Given the description of an element on the screen output the (x, y) to click on. 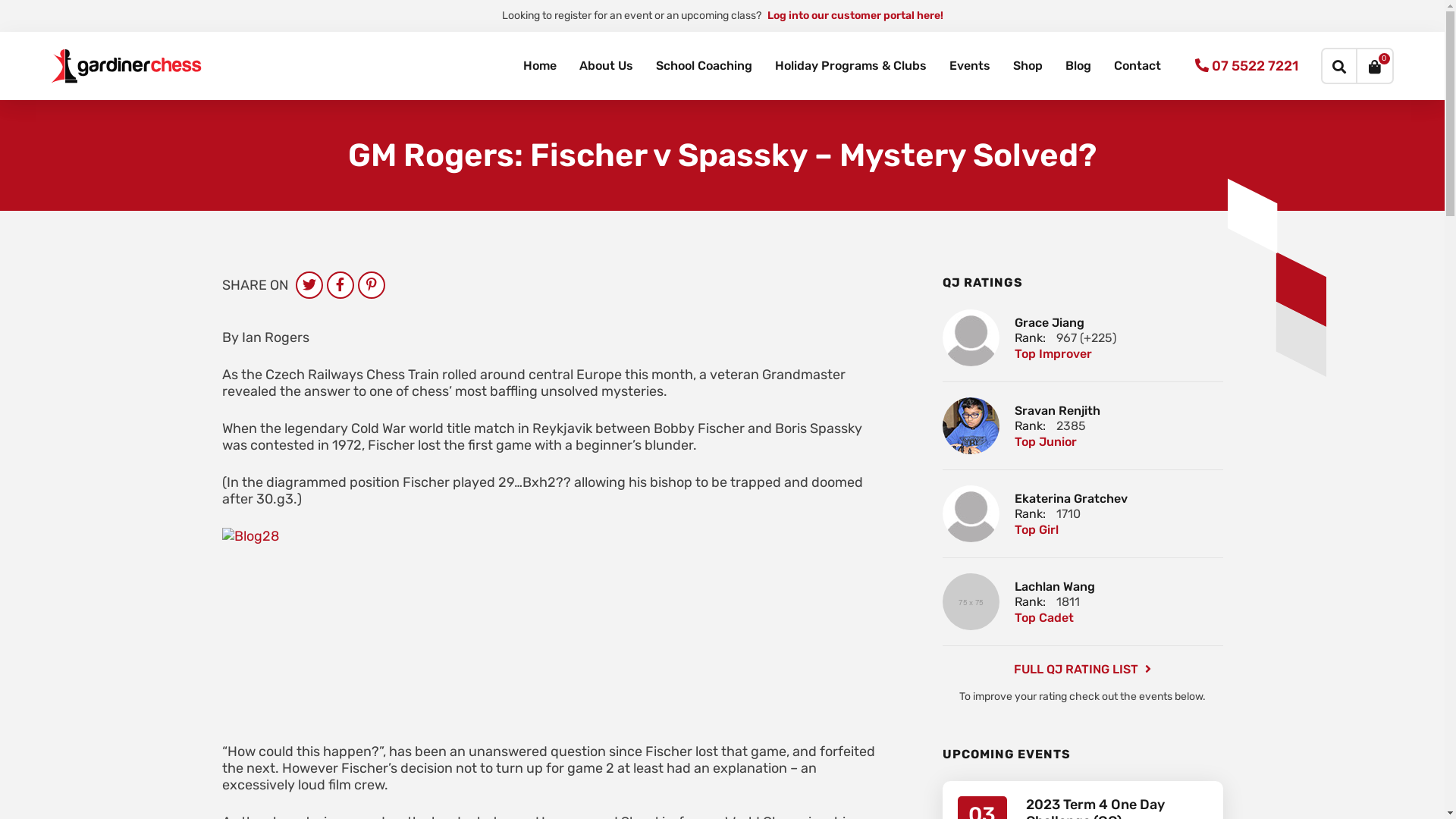
Shop Element type: text (1027, 65)
Home Element type: text (539, 65)
FULL QJ RATING LIST Element type: text (1081, 669)
Contact Element type: text (1137, 65)
07 5522 7221 Element type: text (1246, 65)
School Coaching Element type: text (703, 65)
0 Element type: text (1375, 65)
Blog Element type: text (1078, 65)
Holiday Programs & Clubs Element type: text (849, 65)
Events Element type: text (969, 65)
Log into our customer portal here! Element type: text (855, 15)
About Us Element type: text (605, 65)
